Given the description of an element on the screen output the (x, y) to click on. 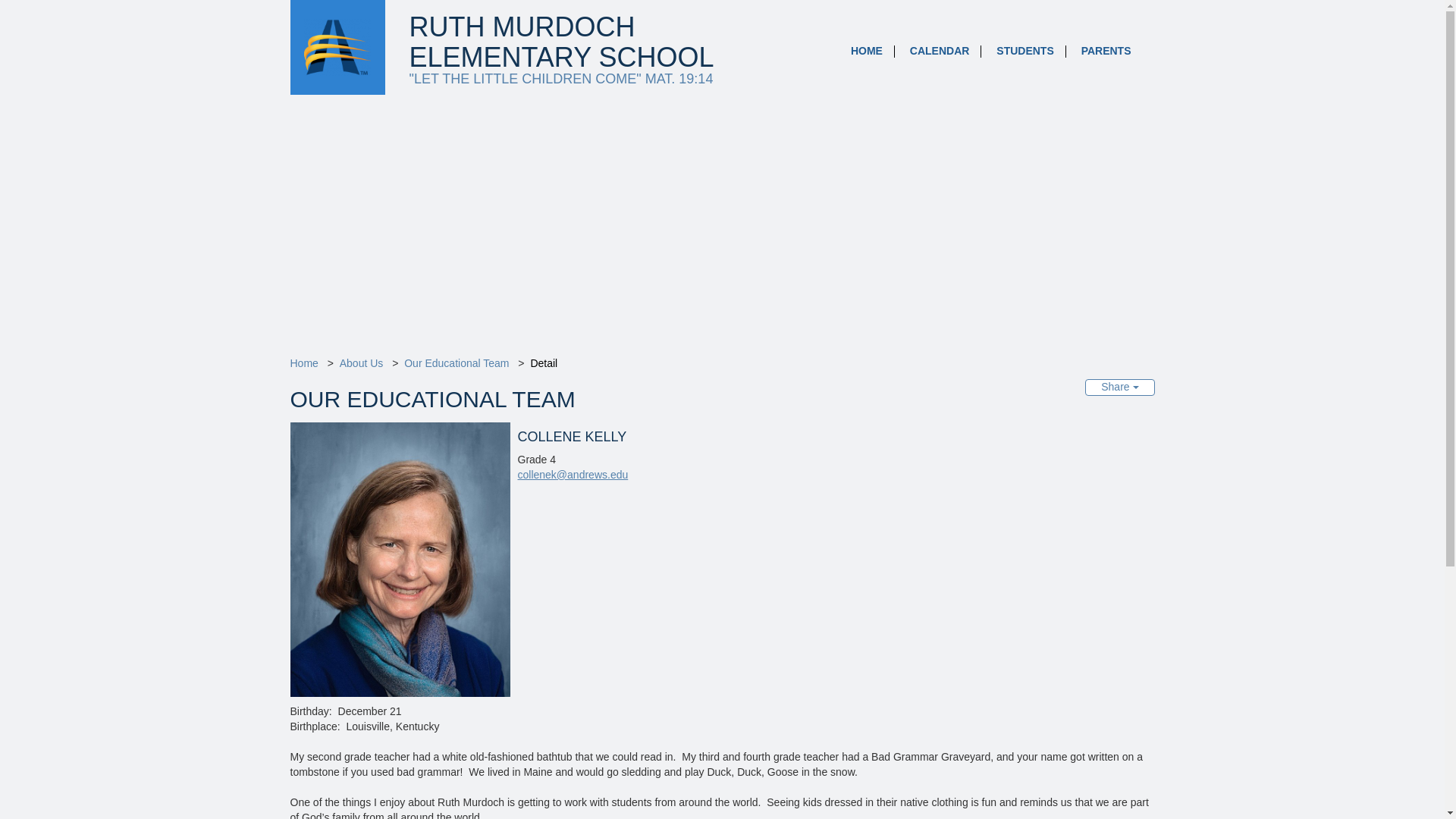
Detail (543, 363)
CALENDAR (939, 50)
Home (303, 363)
Share (1119, 387)
PARENTS (1105, 50)
HOME (866, 50)
STUDENTS (1024, 50)
Our Educational Team (456, 363)
RUTH MURDOCH ELEMENTARY SCHOOL (565, 42)
About Us (361, 363)
